Given the description of an element on the screen output the (x, y) to click on. 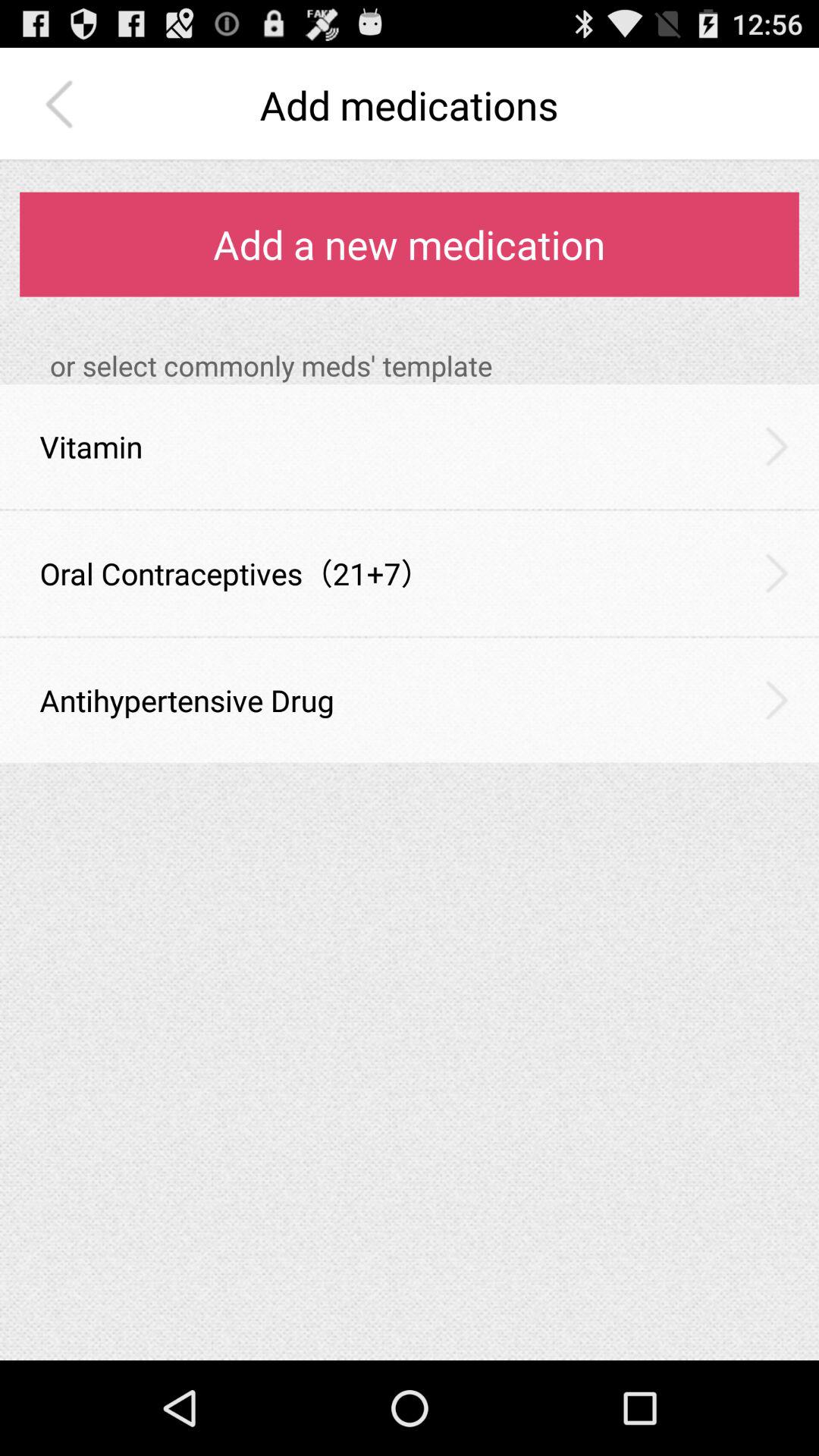
launch item below the or select commonly (776, 445)
